Given the description of an element on the screen output the (x, y) to click on. 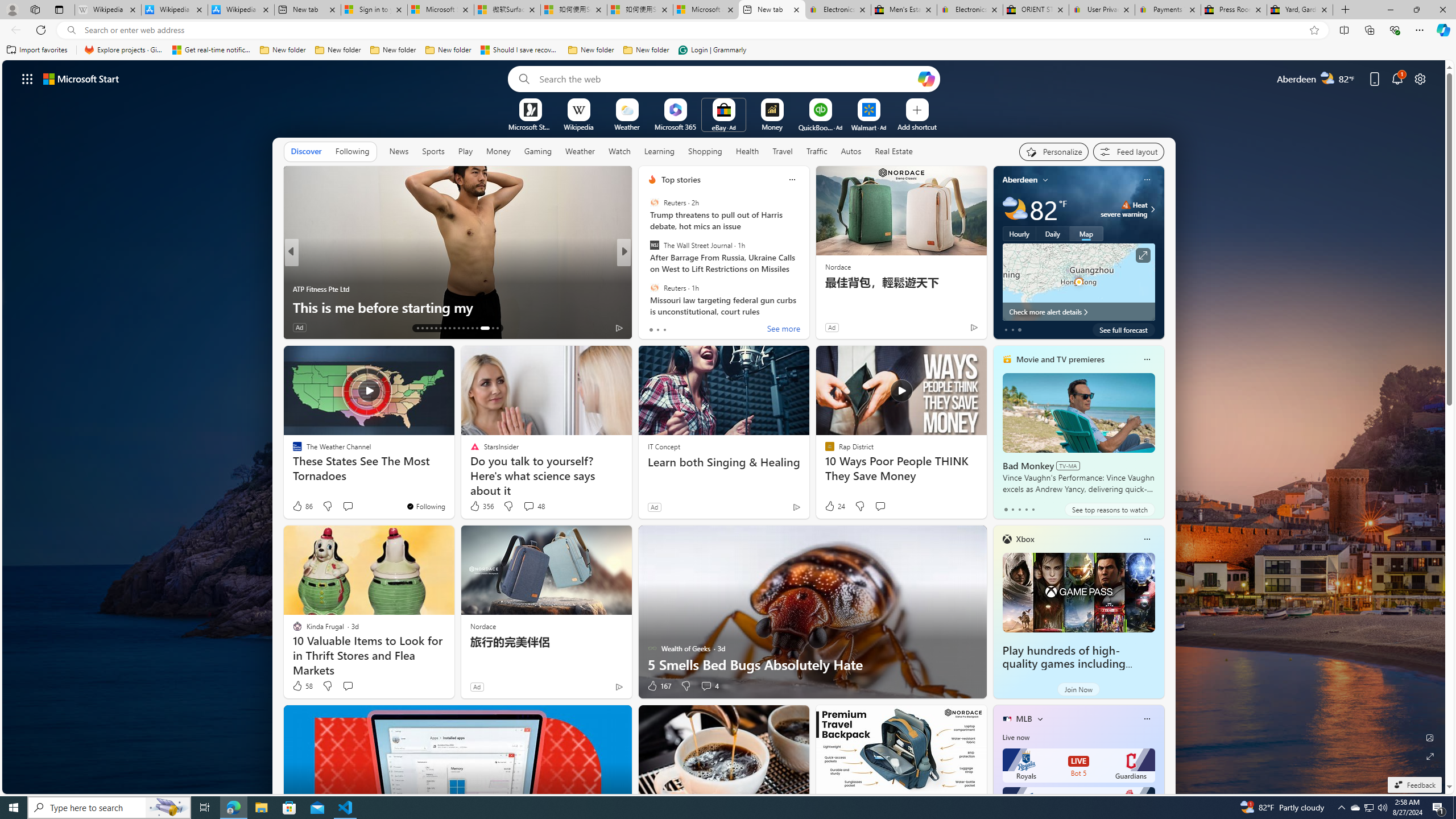
Daily (1052, 233)
App launcher (27, 78)
More Options (886, 101)
The Wall Street Journal (654, 245)
My location (1045, 179)
